Given the description of an element on the screen output the (x, y) to click on. 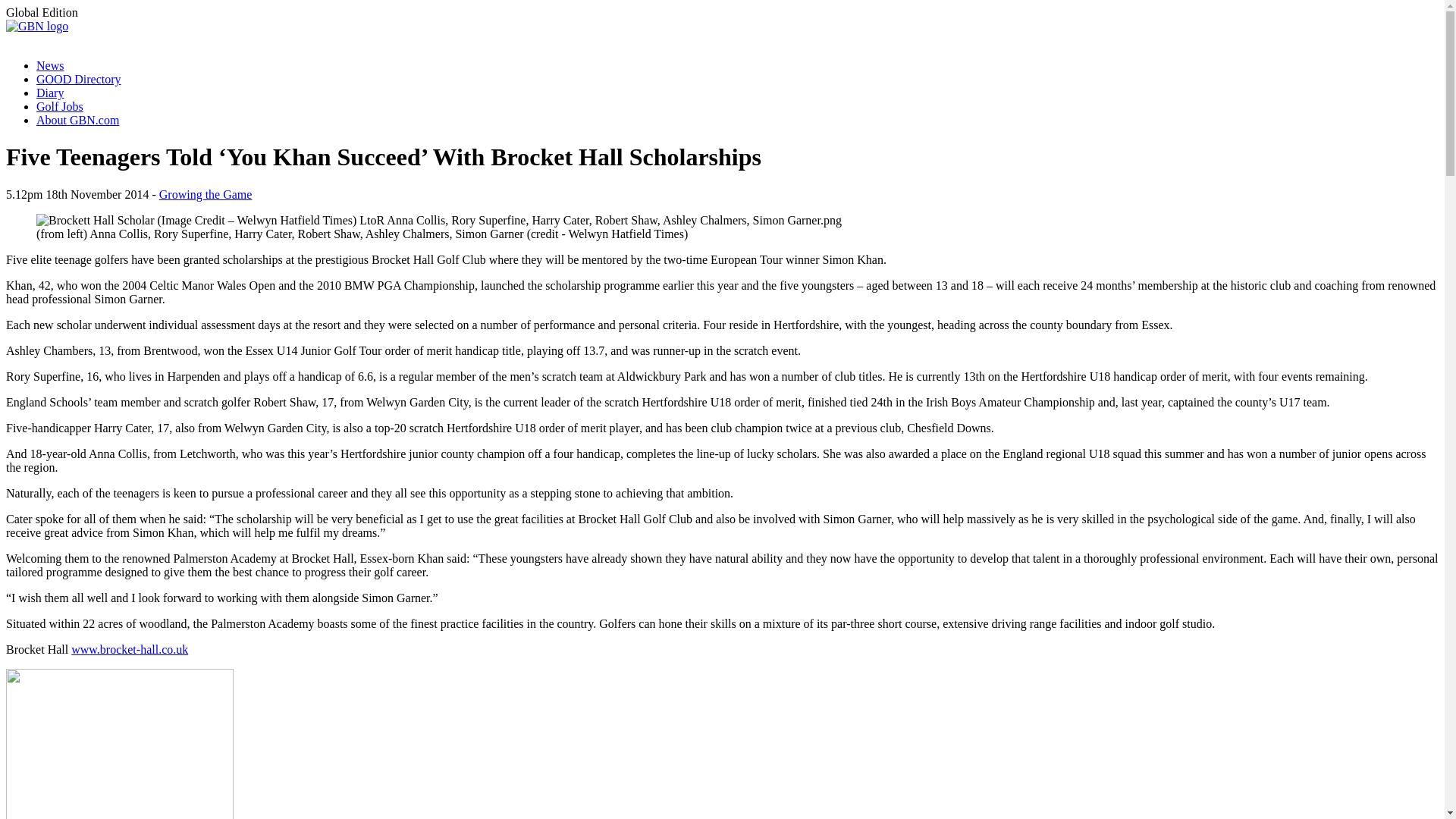
GBN Home (36, 25)
News (50, 65)
About GBN.com (77, 119)
Conferences and exhibitions across the golfing world (50, 92)
Diary (50, 92)
Growing the Game (204, 194)
Golf Jobs (59, 106)
www.brocket-hall.co.uk (129, 649)
All the latest news from the golf industry (50, 65)
GOOD Directory (78, 78)
